Given the description of an element on the screen output the (x, y) to click on. 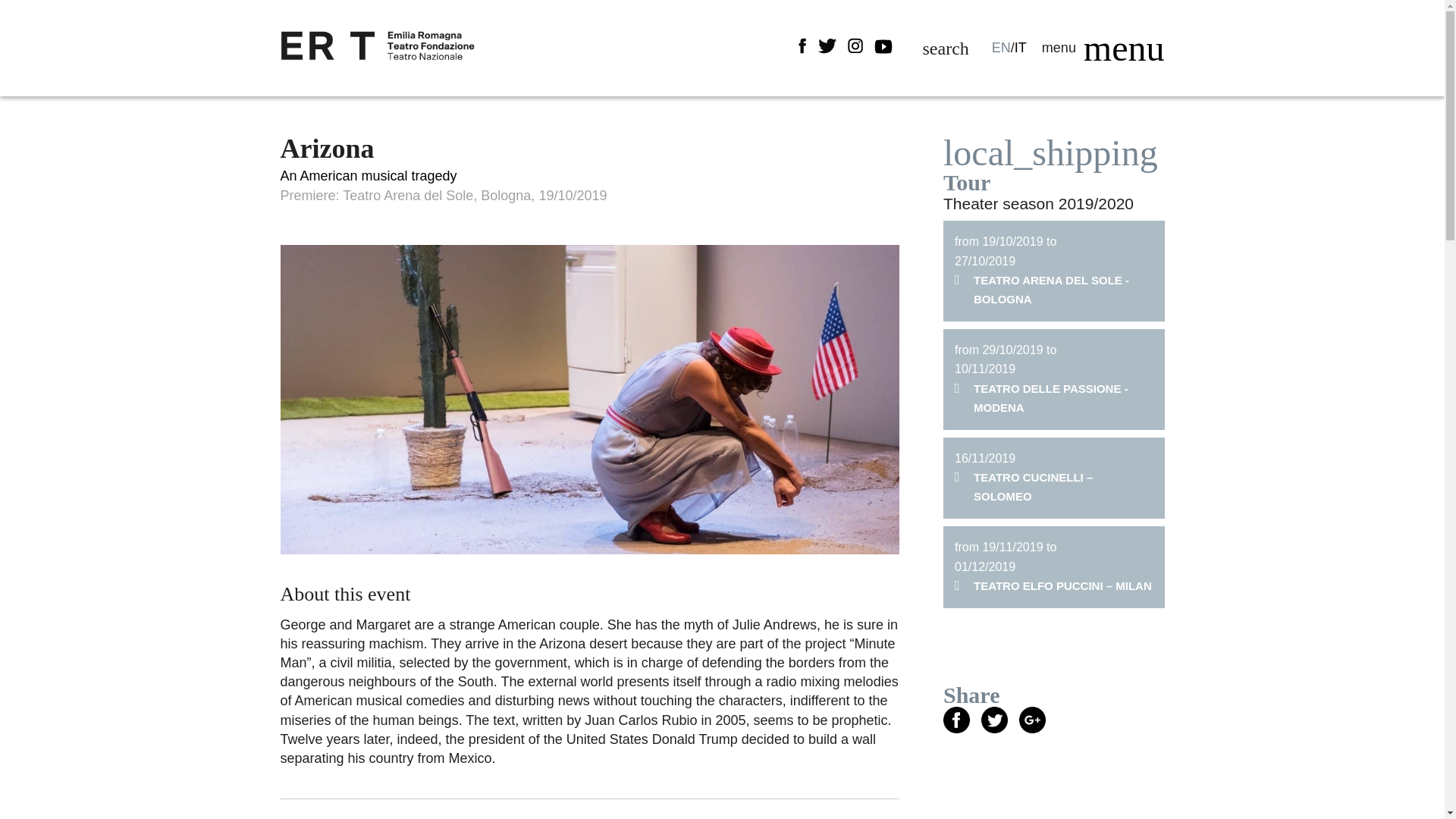
Emilia Romagna Teatro Fondazione (377, 45)
Emilia Romagna Teatro Fondazione (377, 67)
TEATRO ARENA DEL SOLE - BOLOGNA (1054, 289)
TEATRO DELLE PASSIONE - MODENA (1054, 397)
EN (1000, 47)
